Given the description of an element on the screen output the (x, y) to click on. 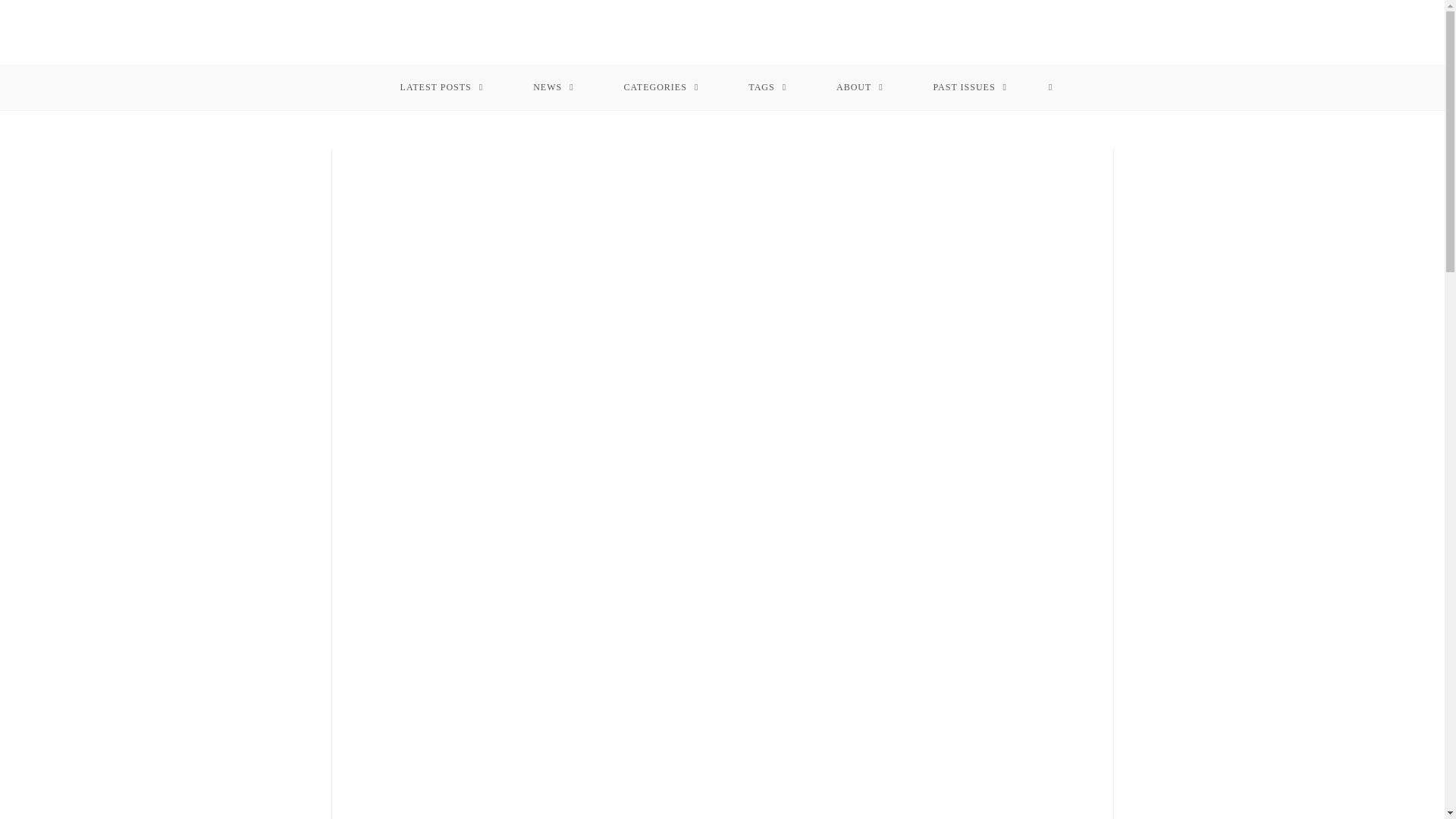
LATEST POSTS (441, 86)
ABOUT (859, 86)
TAGS (766, 86)
CATEGORIES (660, 86)
NEWS (553, 86)
PAST ISSUES (970, 86)
